Given the description of an element on the screen output the (x, y) to click on. 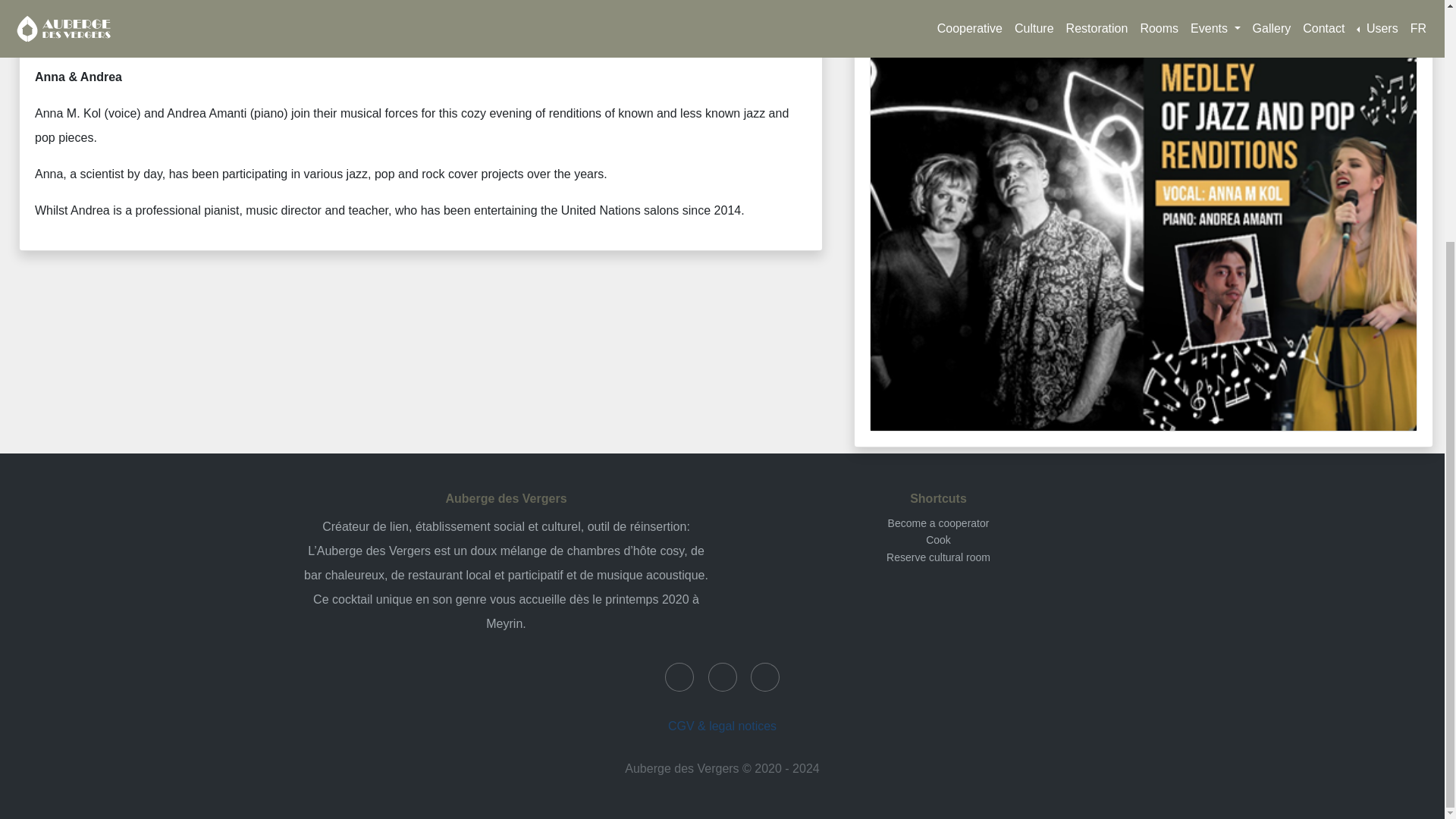
Cook (938, 539)
Reserve cultural room (938, 557)
Become a cooperator (939, 522)
